Given the description of an element on the screen output the (x, y) to click on. 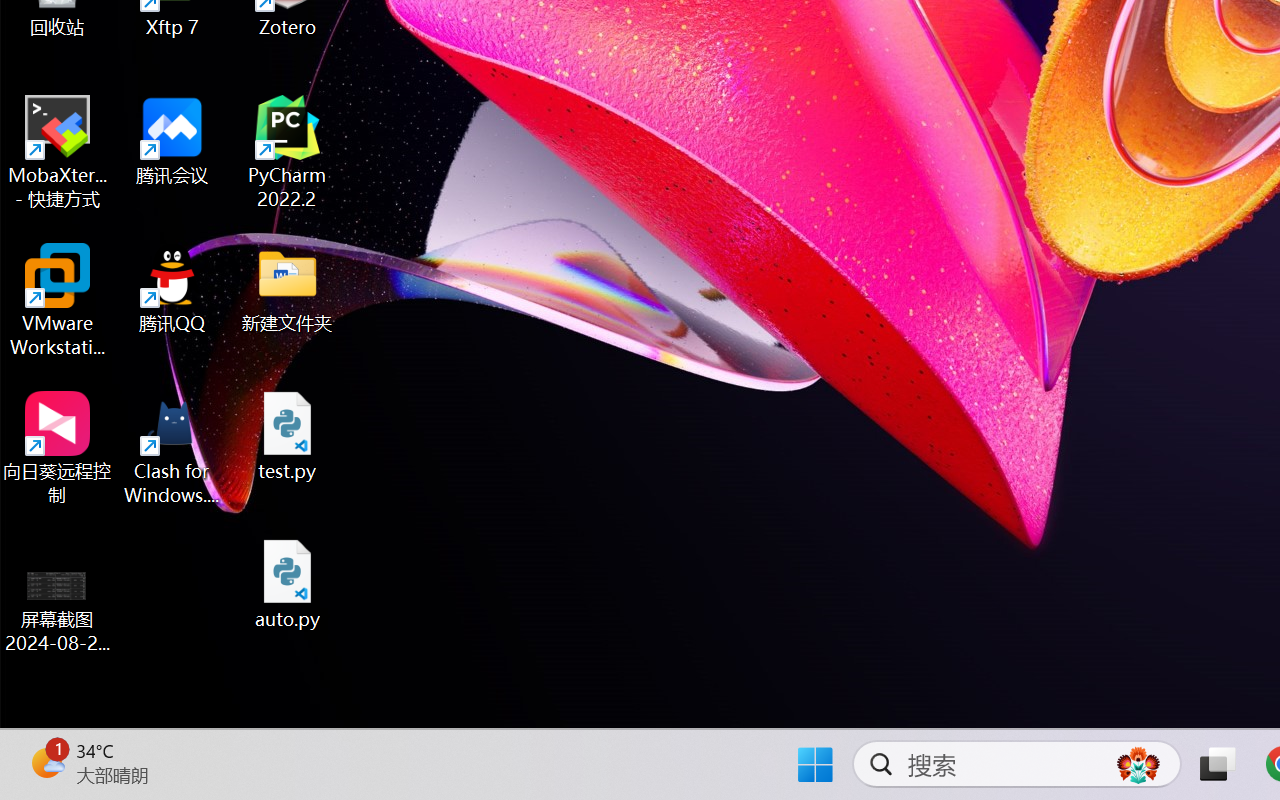
test.py (287, 436)
auto.py (287, 584)
VMware Workstation Pro (57, 300)
